Given the description of an element on the screen output the (x, y) to click on. 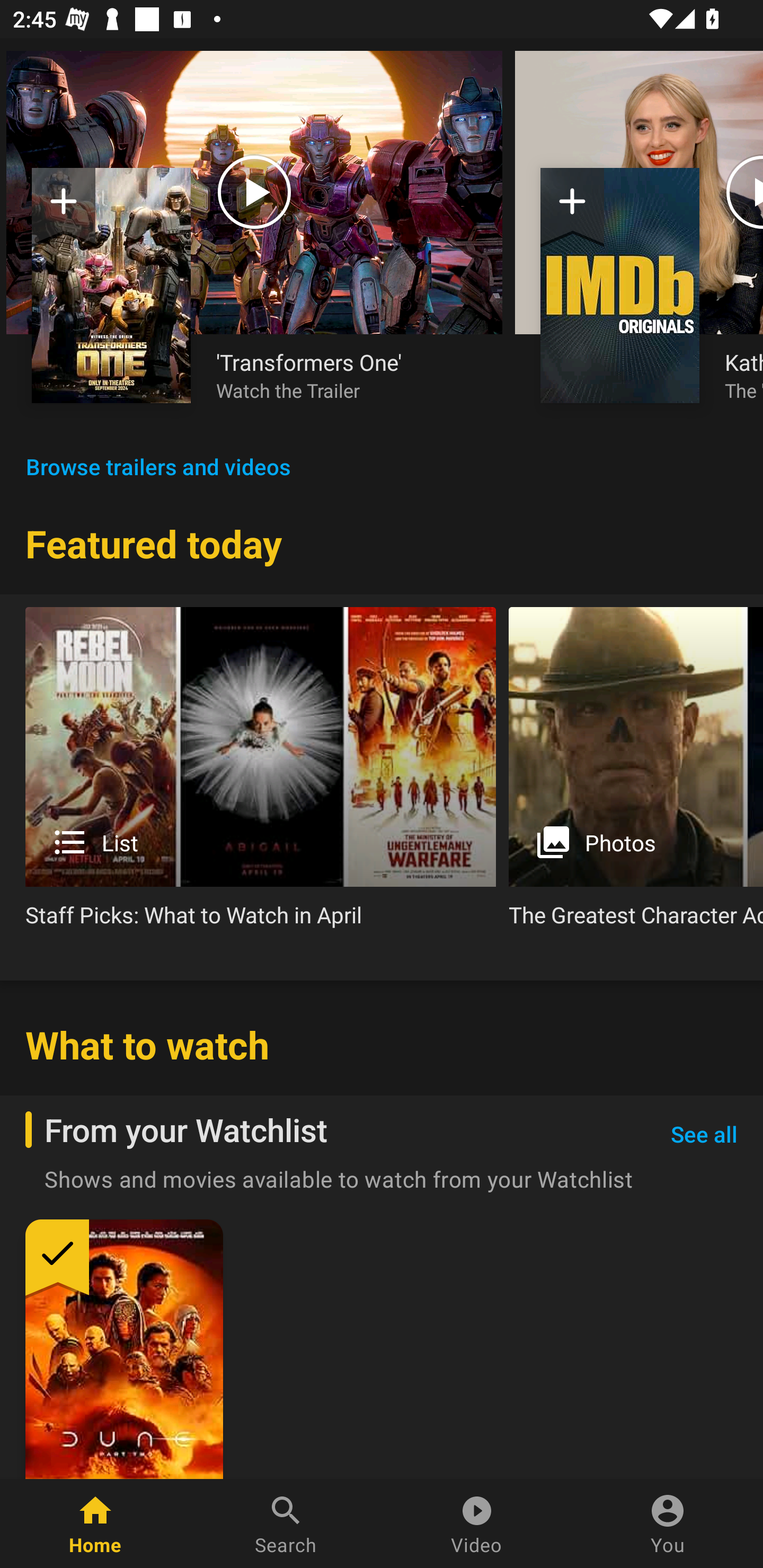
Not in watchlist (111, 284)
Not in watchlist (63, 207)
Not in watchlist (619, 284)
Not in watchlist (572, 207)
'Transformers One' Watch the Trailer (345, 374)
List Staff Picks: What to Watch in April (260, 774)
Photos The Greatest Character Actors of All Time (635, 774)
See all See all From your Watchlist (703, 1134)
Search (285, 1523)
Video (476, 1523)
You (667, 1523)
